Given the description of an element on the screen output the (x, y) to click on. 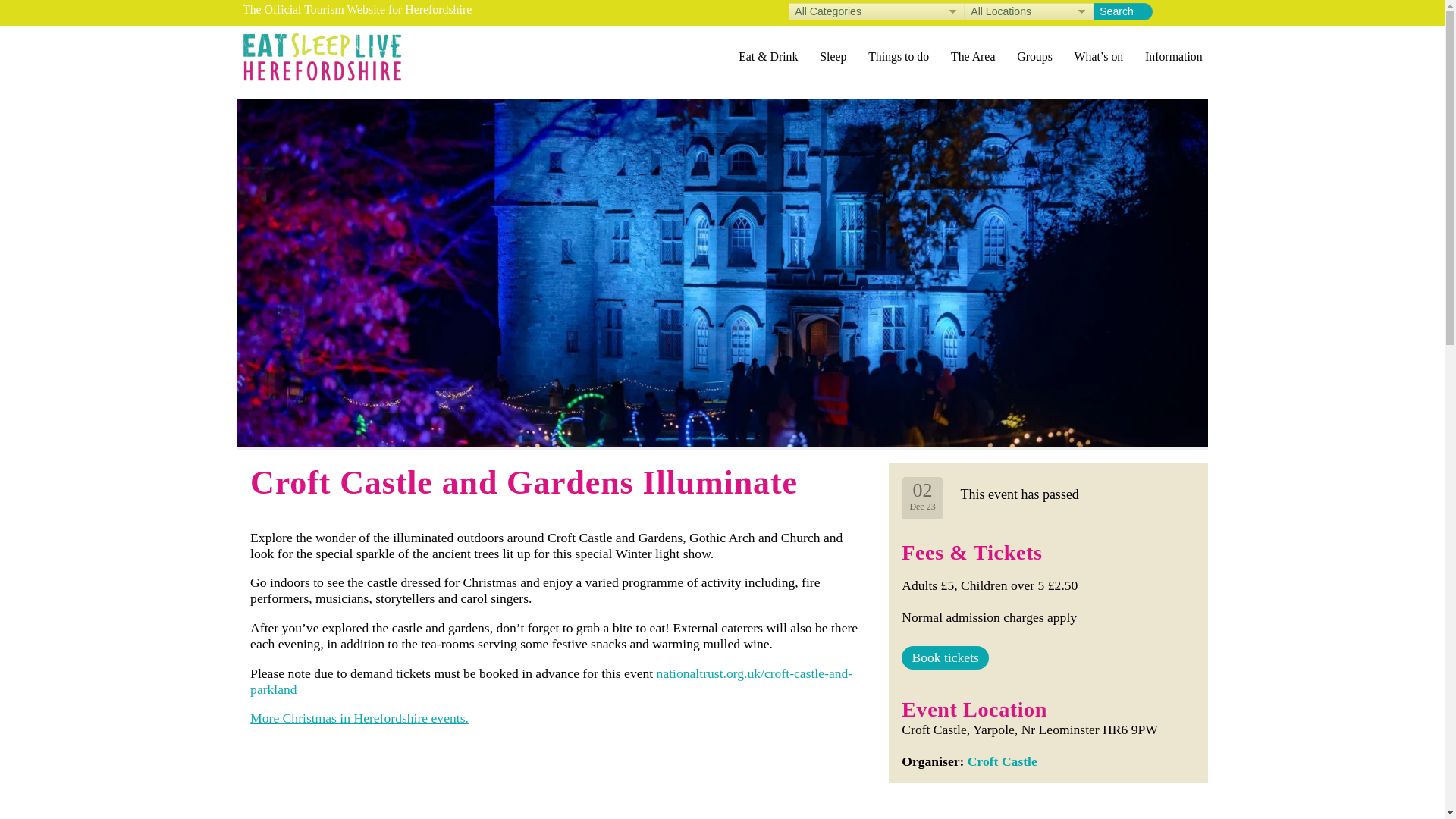
The Area (973, 56)
Back to Homepage (322, 56)
Sleep (833, 56)
Search (1123, 12)
Search (1123, 12)
Things to do (898, 56)
Search (1123, 12)
